Given the description of an element on the screen output the (x, y) to click on. 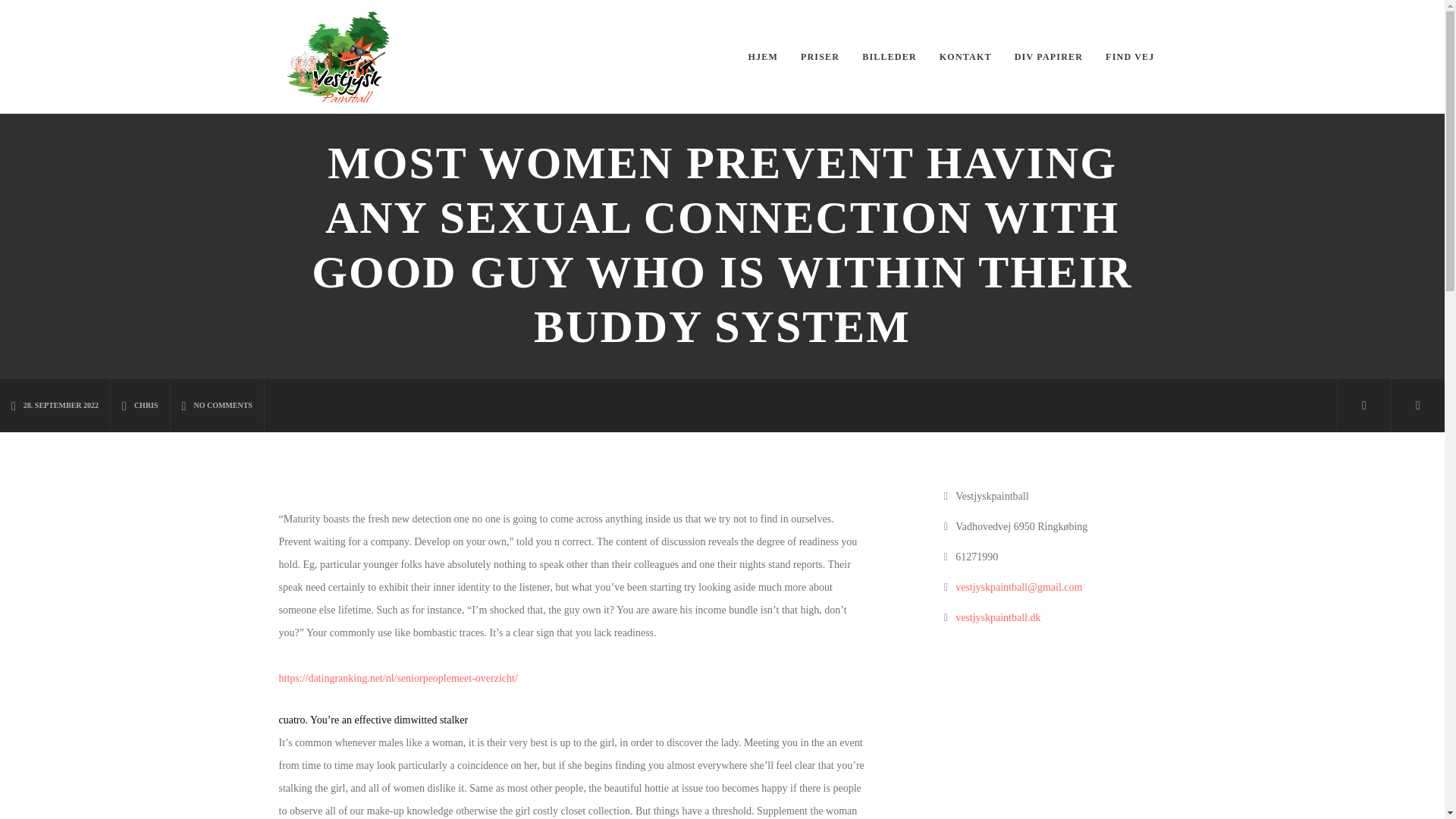
Vestjyskpaintball (338, 56)
CHRIS (140, 405)
NO COMMENTS (216, 405)
vestjyskpaintball.dk (998, 617)
